Given the description of an element on the screen output the (x, y) to click on. 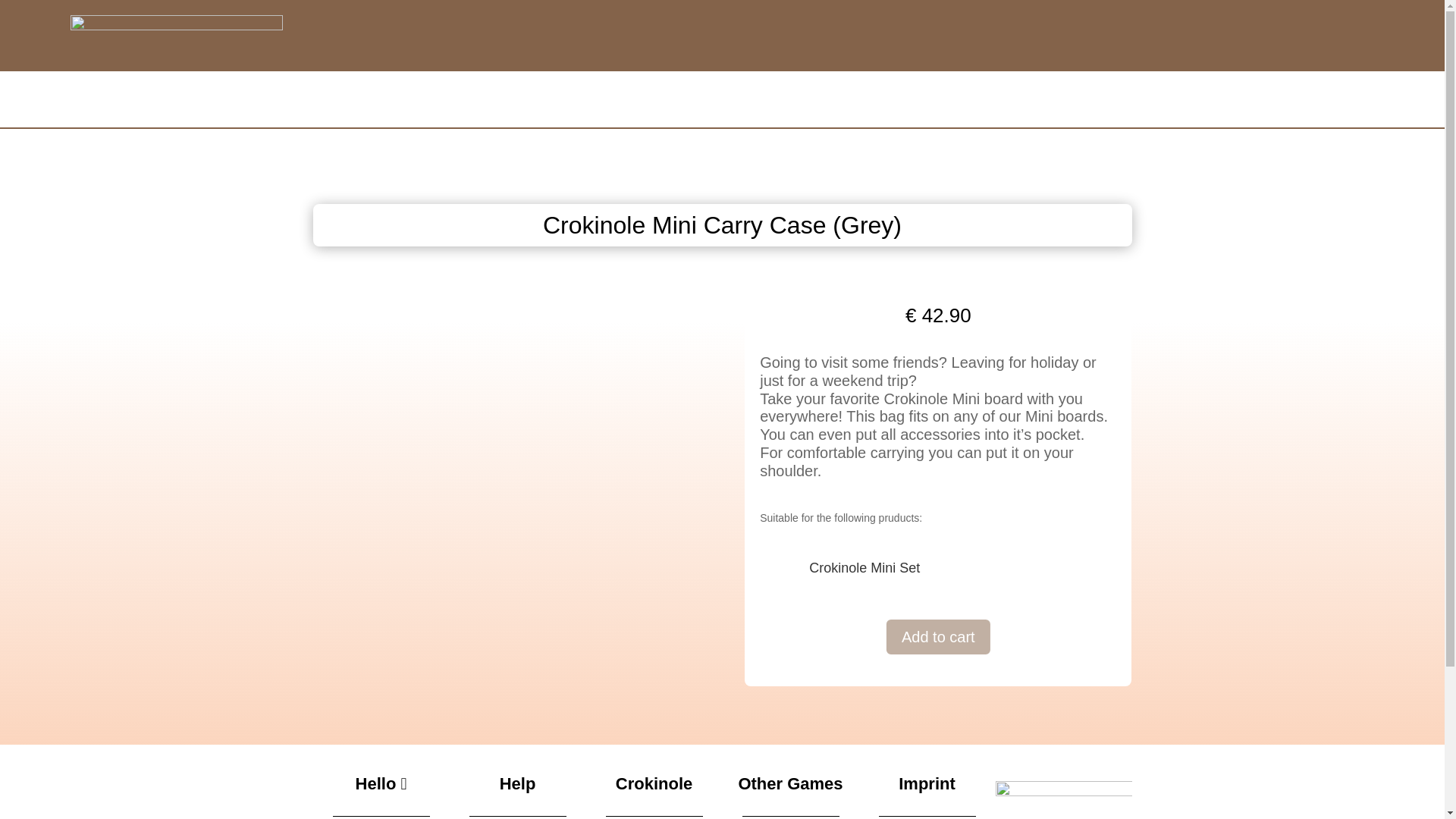
part-stripe (1062, 800)
Crokinole Mini Set (864, 567)
Add to cart (938, 637)
Woodestic-header-logo-tm (175, 34)
